Given the description of an element on the screen output the (x, y) to click on. 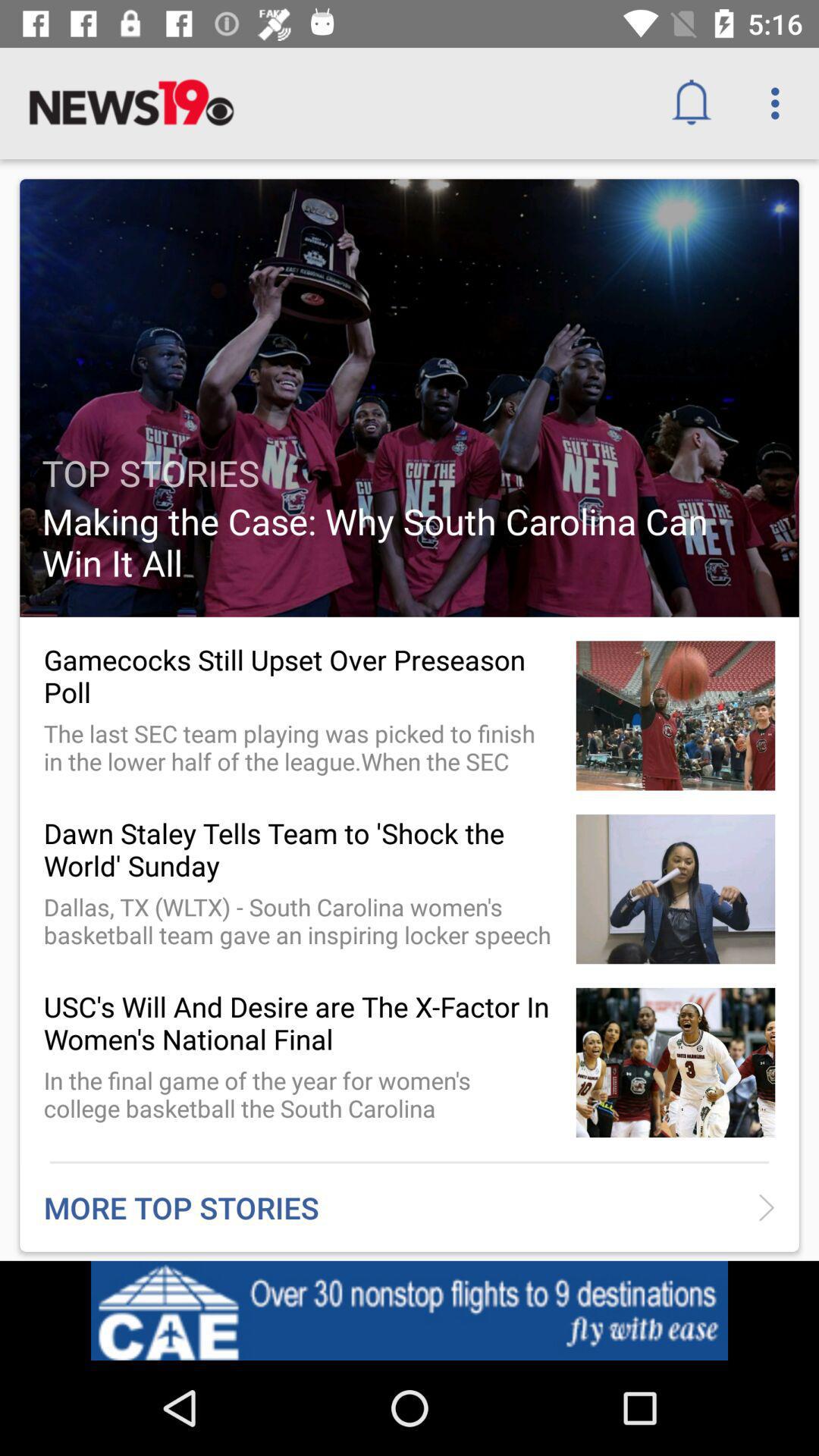
turn on the location (696, 1315)
